Given the description of an element on the screen output the (x, y) to click on. 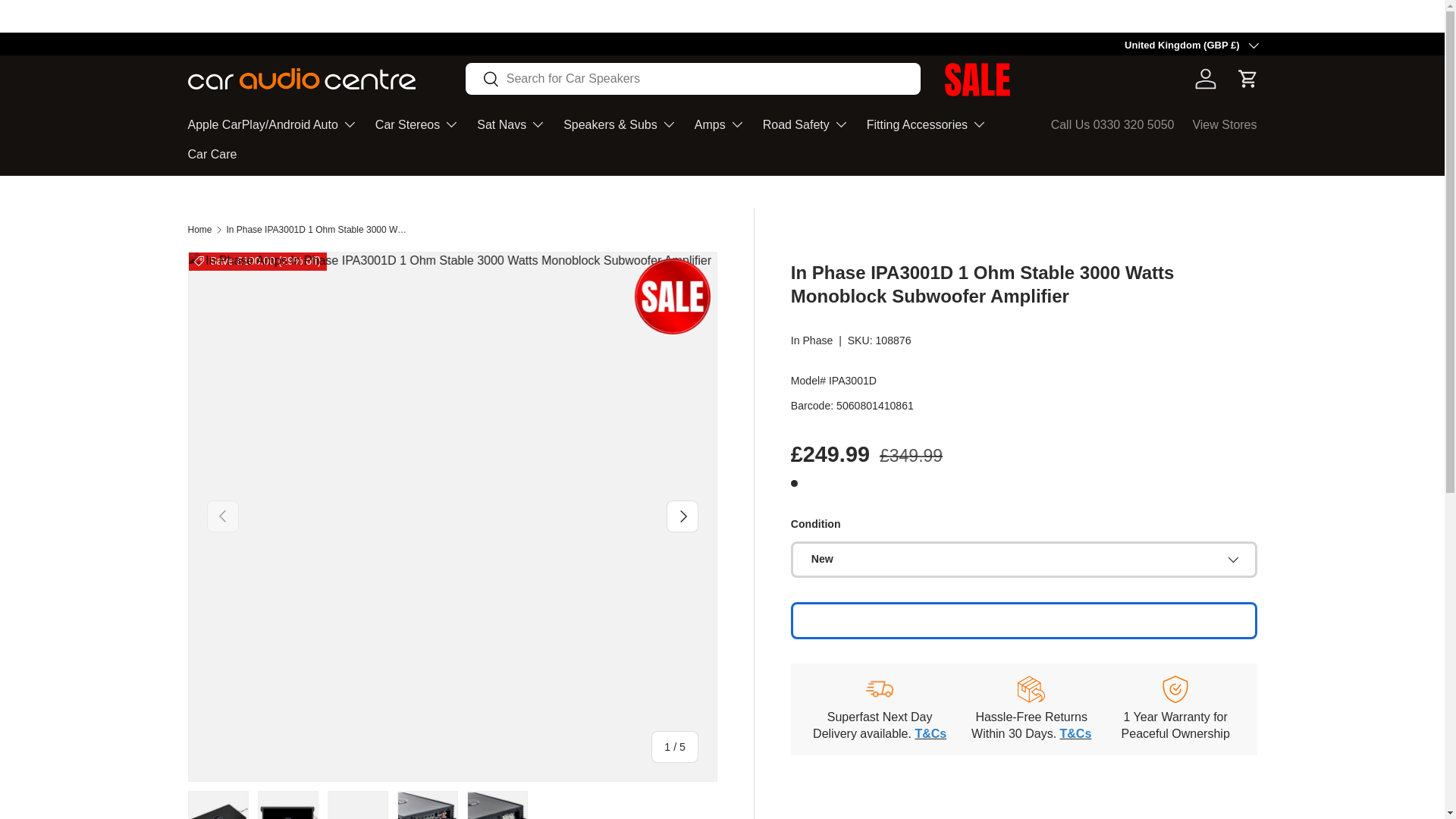
Car Stereos (416, 123)
Log in (1206, 78)
Sat Navs (510, 123)
Cart (1248, 78)
Skip to content (69, 22)
Search (482, 79)
